Given the description of an element on the screen output the (x, y) to click on. 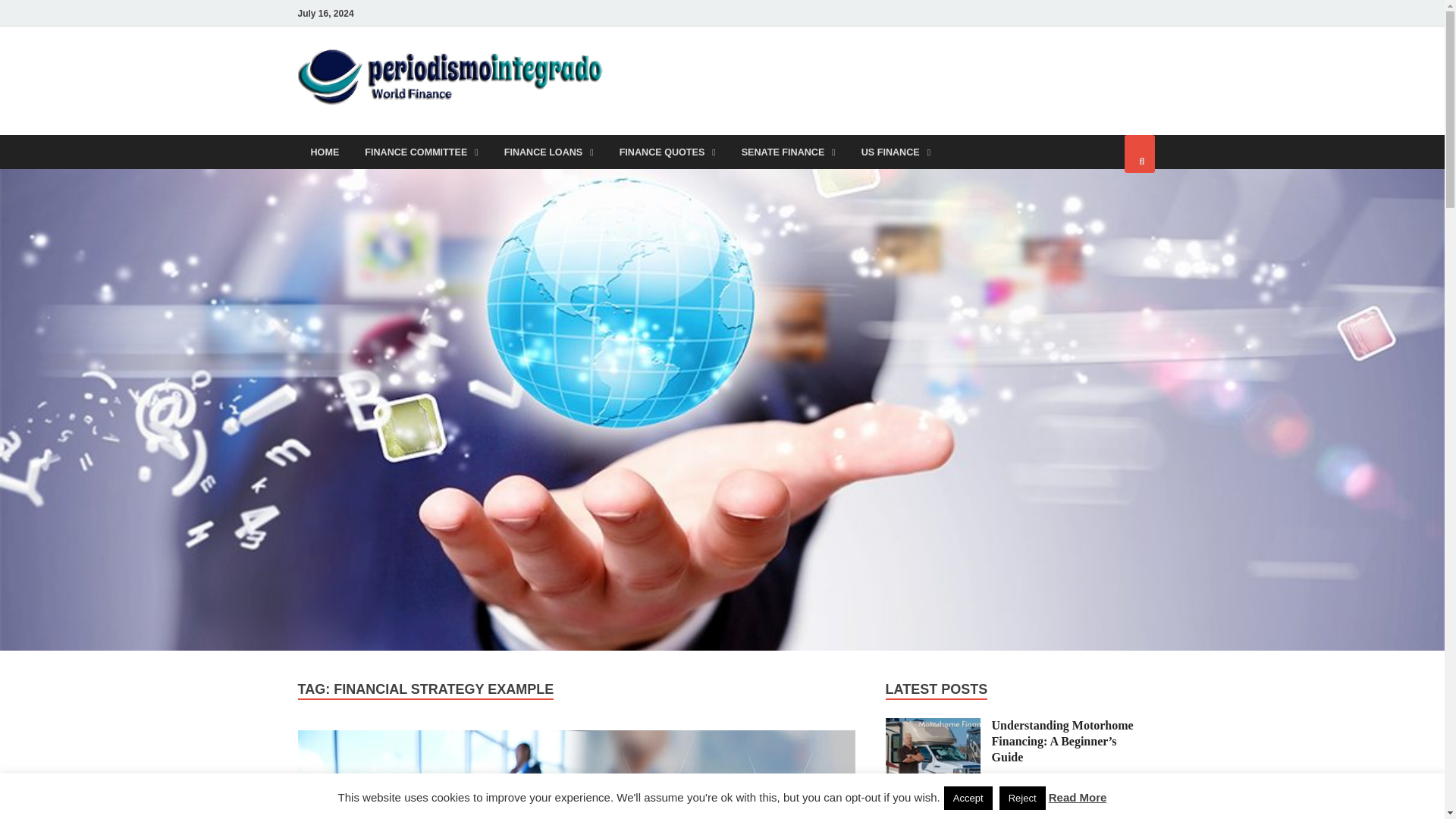
Strategies for Sticking to Your Household Budget Goals (932, 815)
SENATE FINANCE (788, 151)
HOME (324, 151)
PMTG-Finance (709, 78)
US FINANCE (895, 151)
Strategic Business Finance Management Techniques (575, 774)
FINANCE QUOTES (668, 151)
FINANCE LOANS (549, 151)
FINANCE COMMITTEE (421, 151)
